Given the description of an element on the screen output the (x, y) to click on. 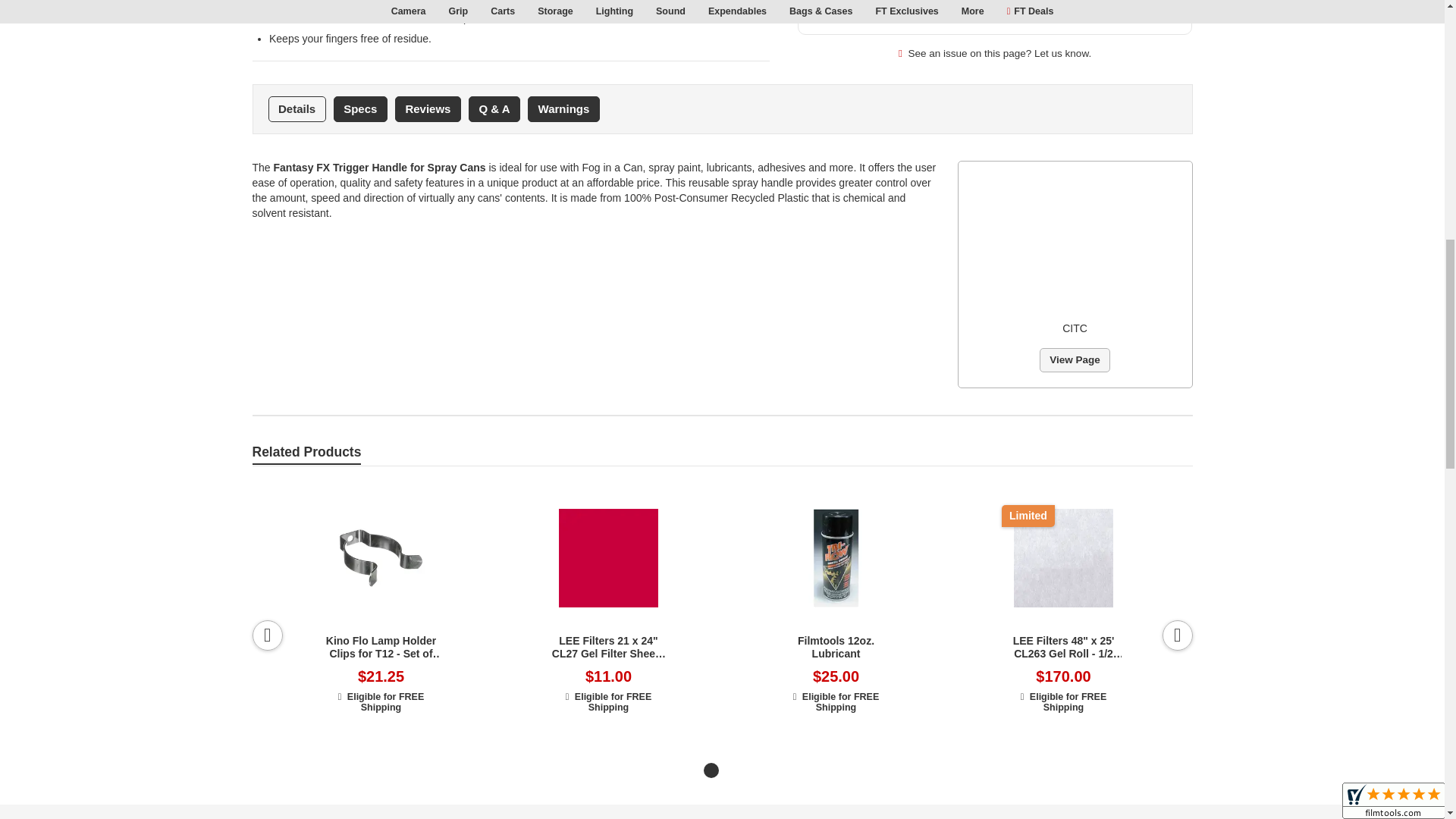
CITC (1075, 242)
